Given the description of an element on the screen output the (x, y) to click on. 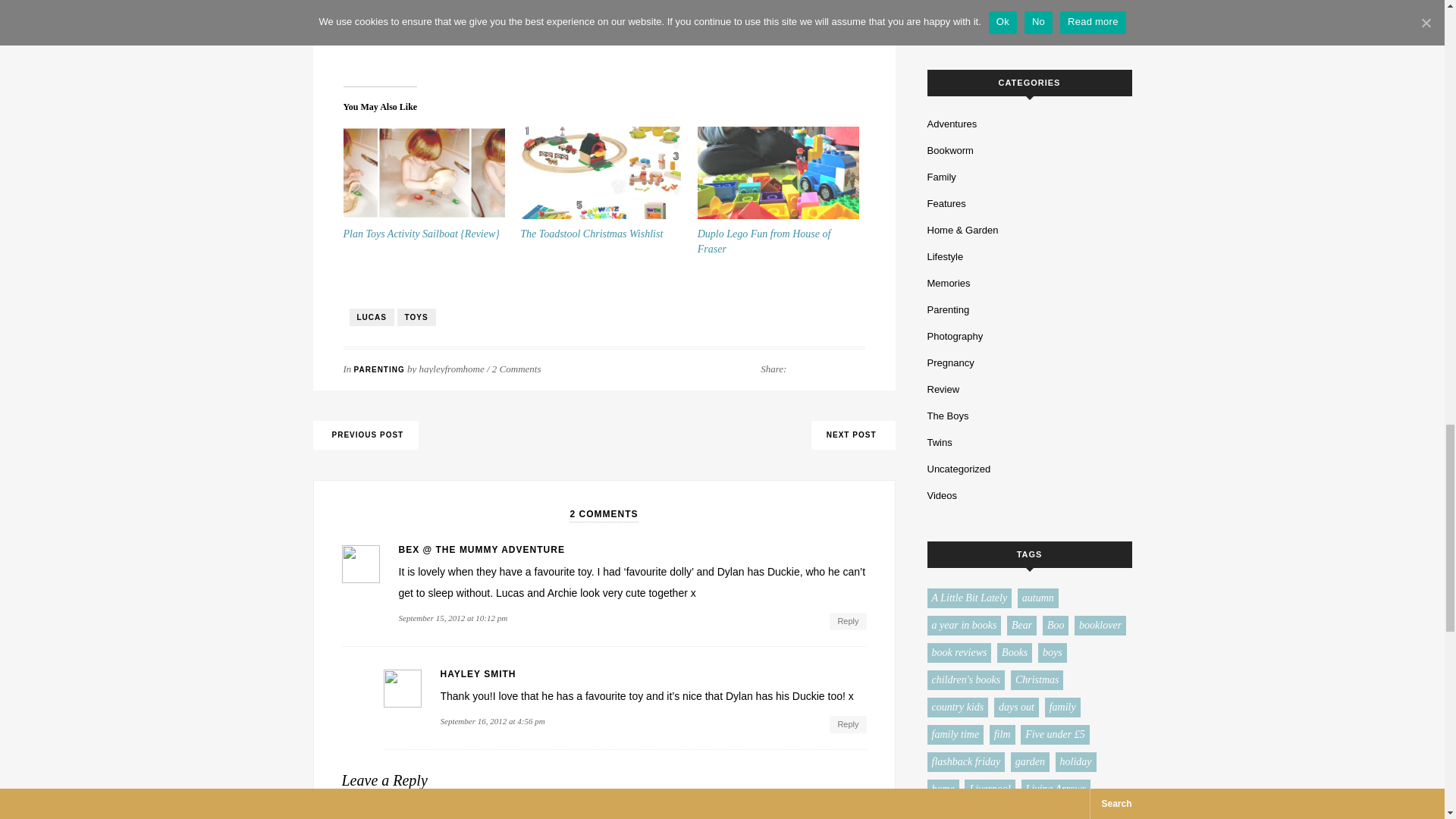
Posts by hayleyfromhome (451, 368)
